Given the description of an element on the screen output the (x, y) to click on. 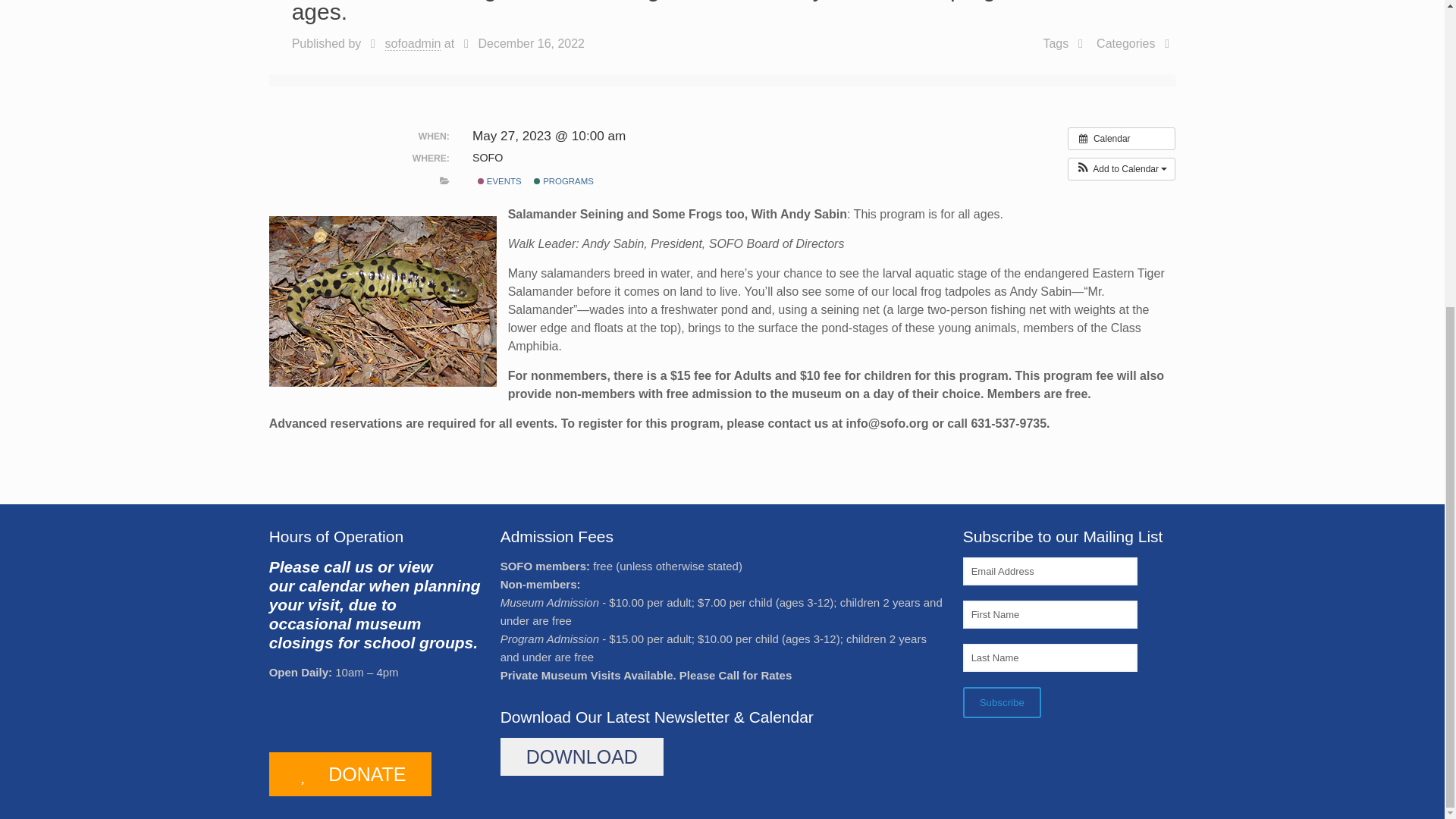
First Name (1049, 614)
Subscribe (1001, 702)
View all events (1121, 137)
Email Address (1049, 571)
Last Name (1049, 657)
